Given the description of an element on the screen output the (x, y) to click on. 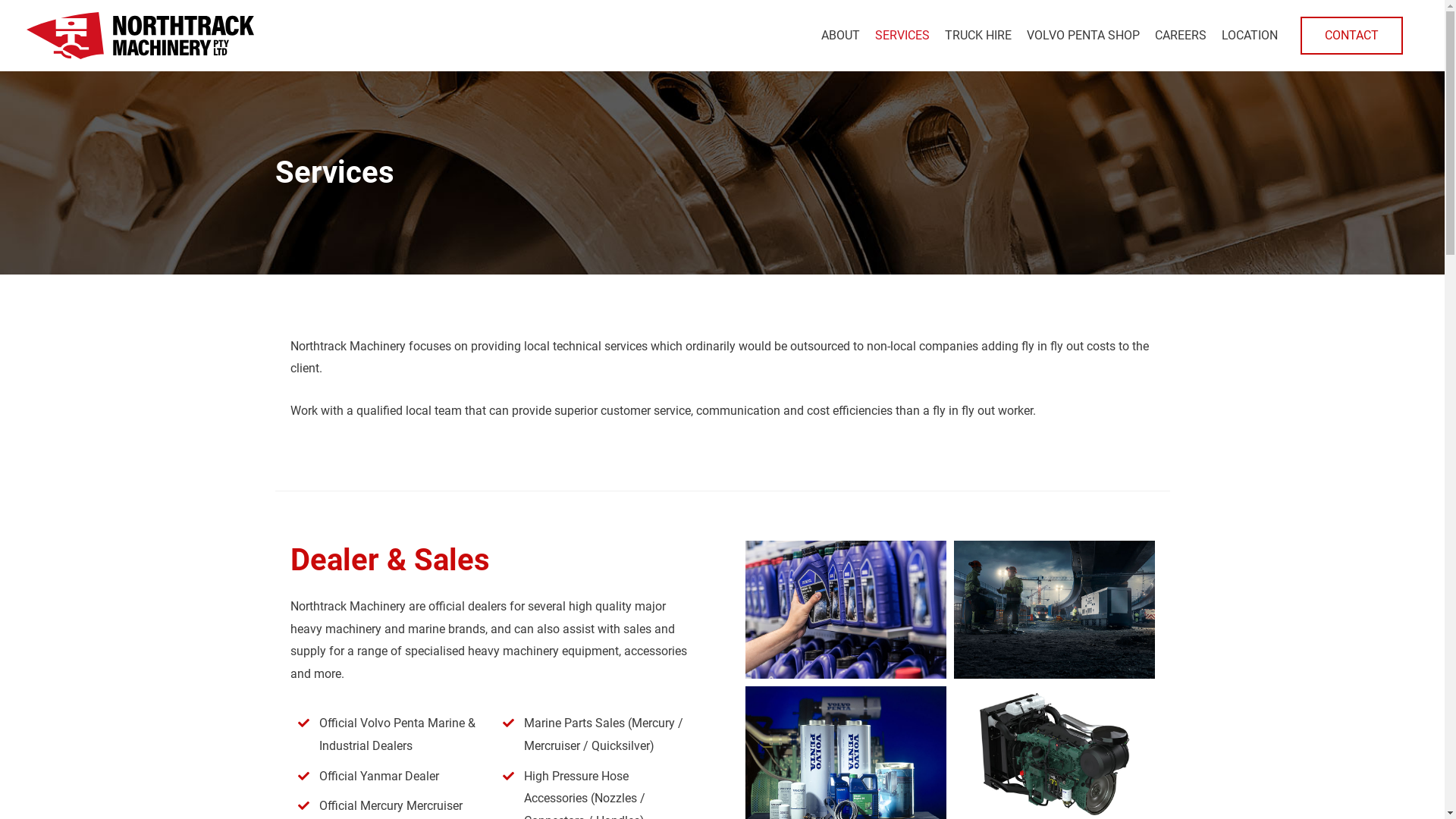
SERVICES Element type: text (902, 35)
CONTACT Element type: text (1351, 35)
CAREERS Element type: text (1180, 35)
LOCATION Element type: text (1249, 35)
ABOUT Element type: text (840, 35)
VOLVO PENTA SHOP Element type: text (1083, 35)
TRUCK HIRE Element type: text (978, 35)
